Given the description of an element on the screen output the (x, y) to click on. 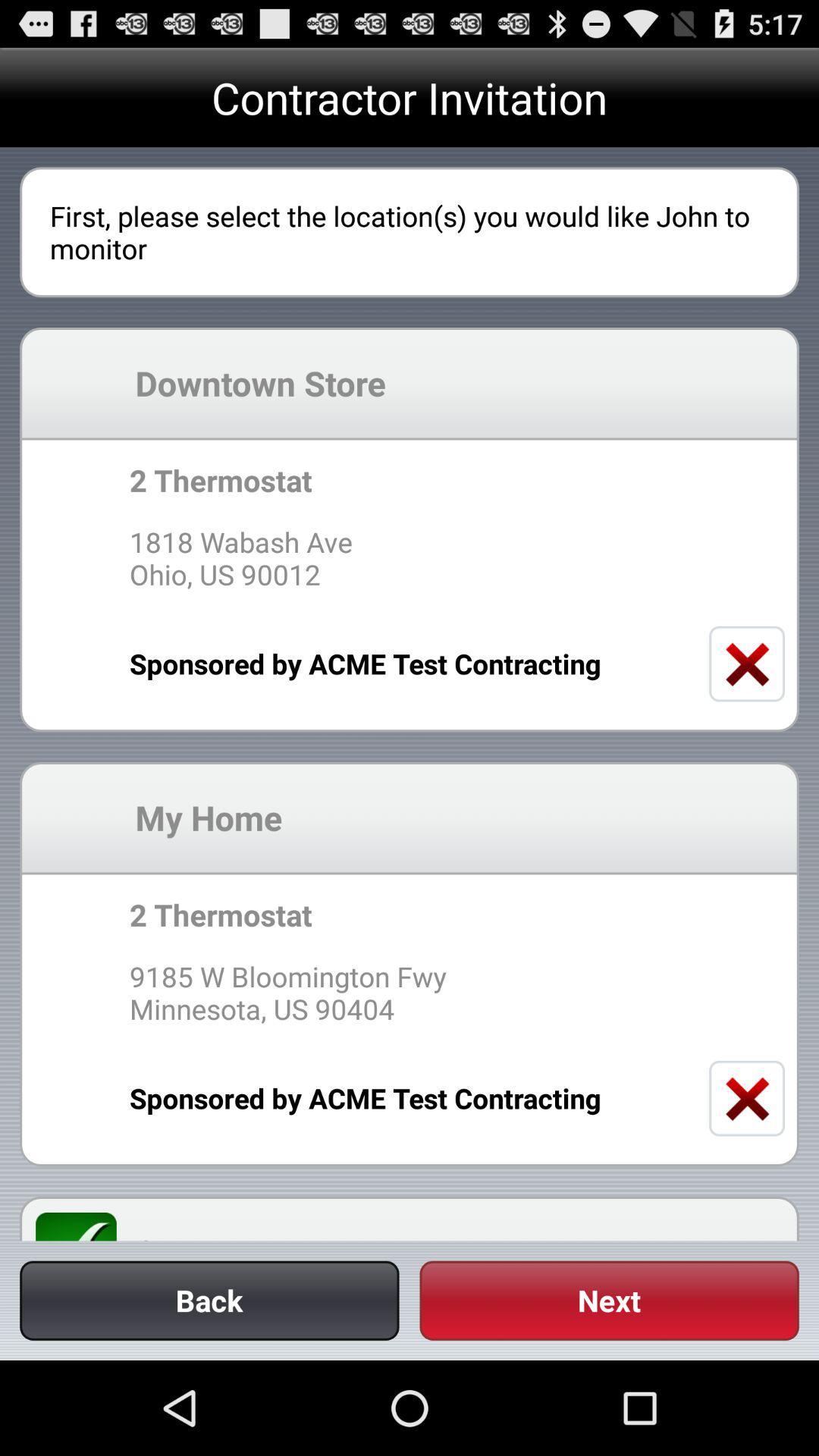
click on cross button which is in my home (746, 1099)
